Given the description of an element on the screen output the (x, y) to click on. 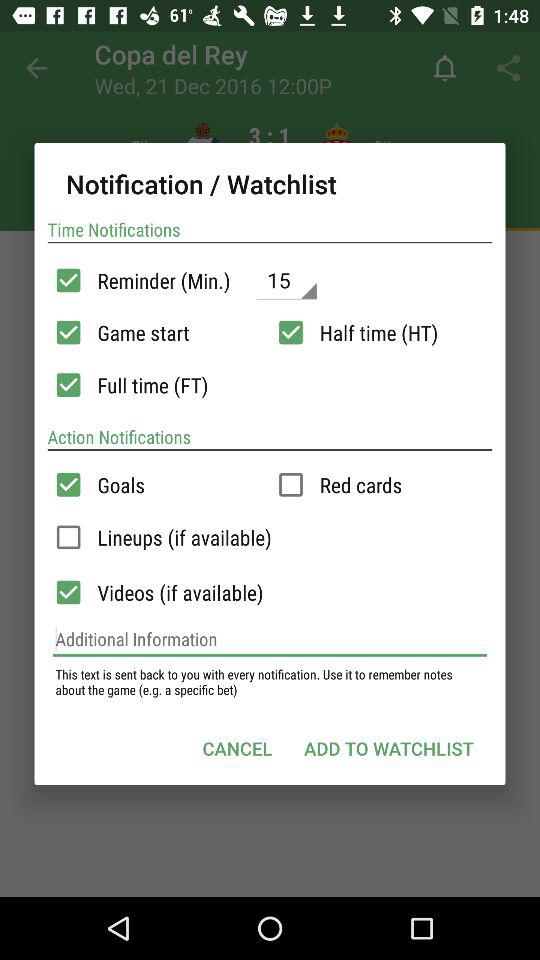
add additional information (269, 639)
